Given the description of an element on the screen output the (x, y) to click on. 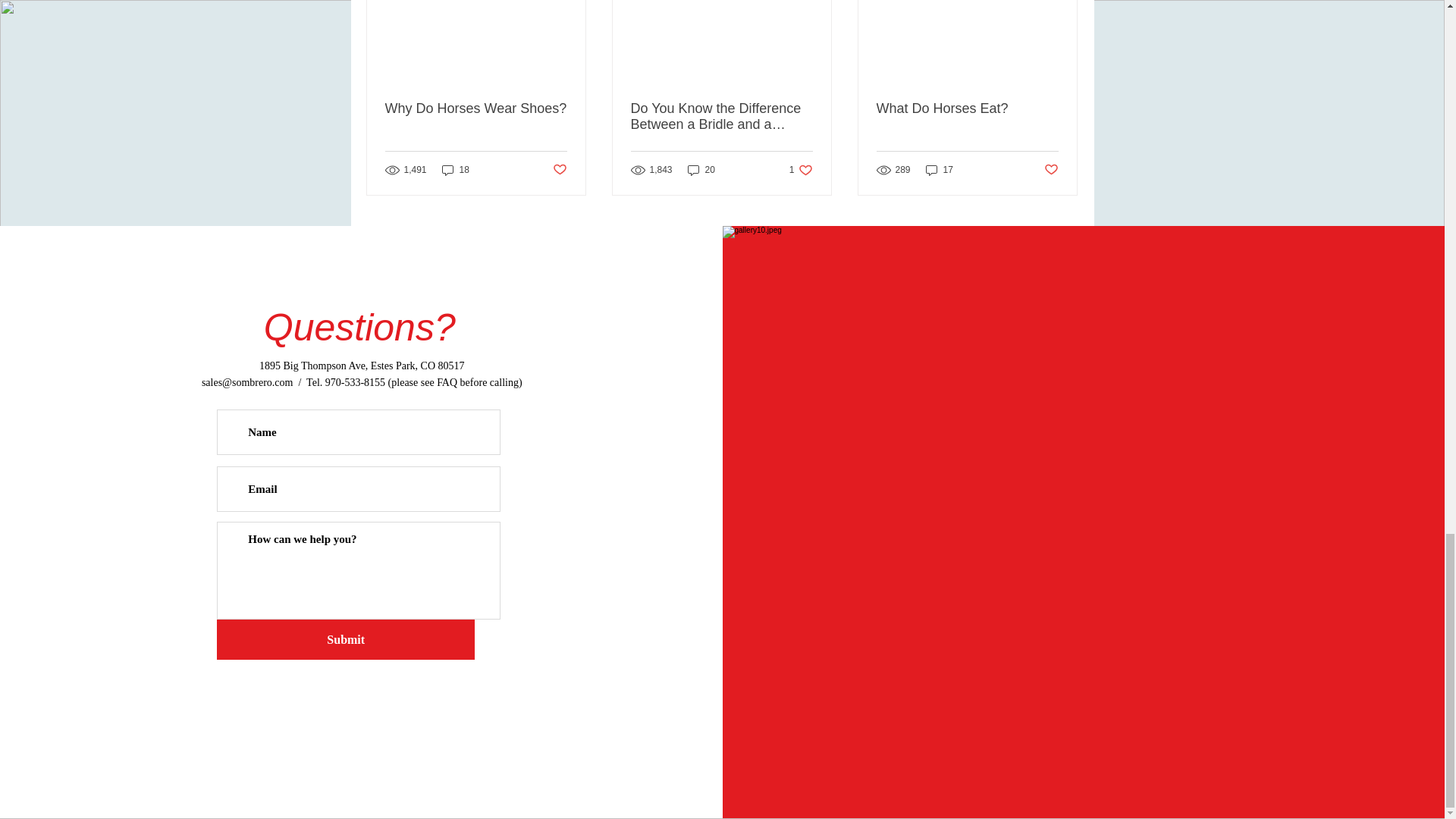
Submit (345, 639)
17 (939, 169)
18 (455, 169)
Why Do Horses Wear Shoes? (476, 108)
Post not marked as liked (558, 170)
Post not marked as liked (800, 169)
Do You Know the Difference Between a Bridle and a Halter? (1050, 170)
20 (721, 116)
What Do Horses Eat? (700, 169)
